Given the description of an element on the screen output the (x, y) to click on. 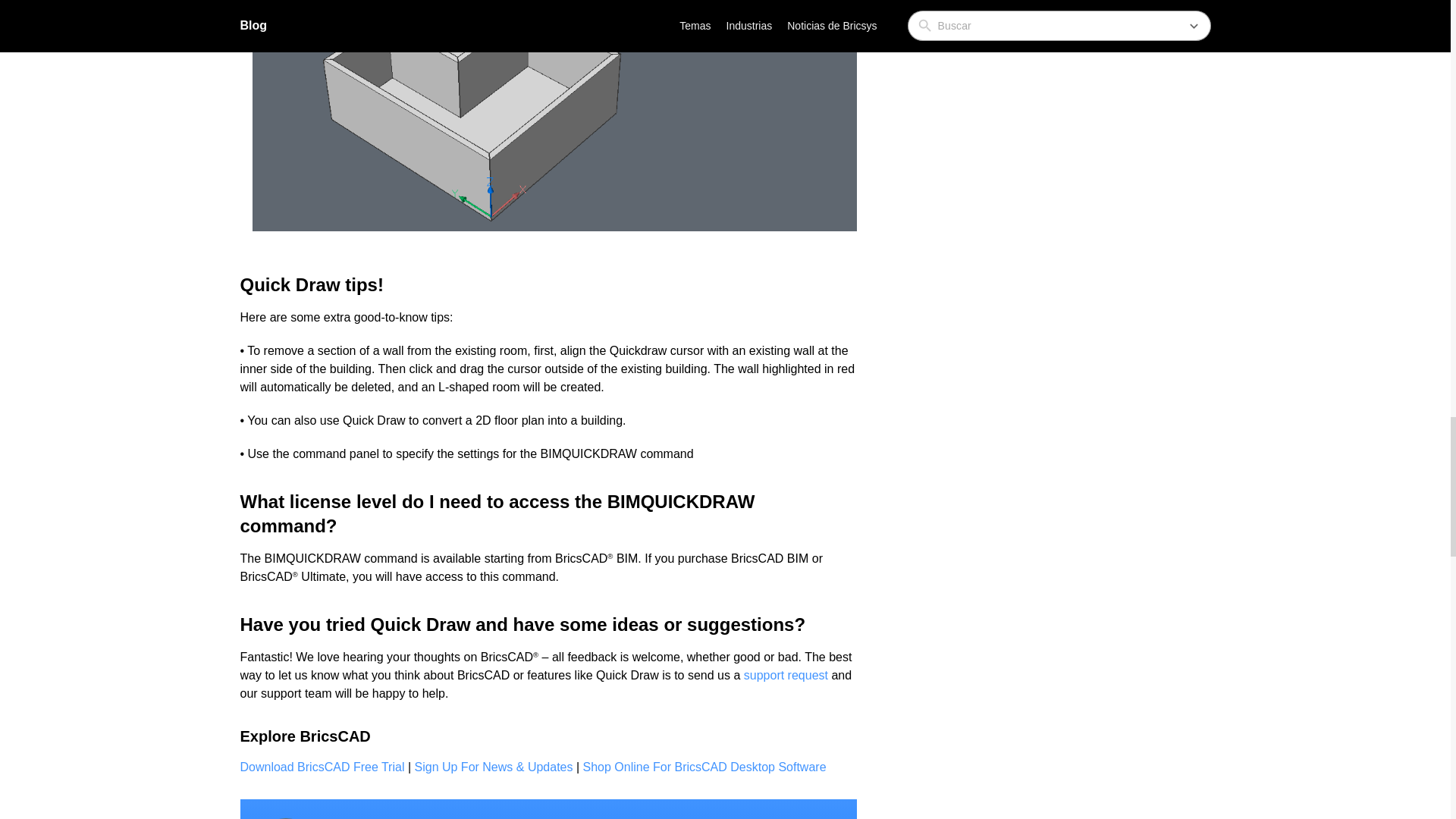
null (322, 766)
Rose Barfield (284, 818)
null (705, 766)
Bricsys Support (786, 675)
null (492, 766)
